Given the description of an element on the screen output the (x, y) to click on. 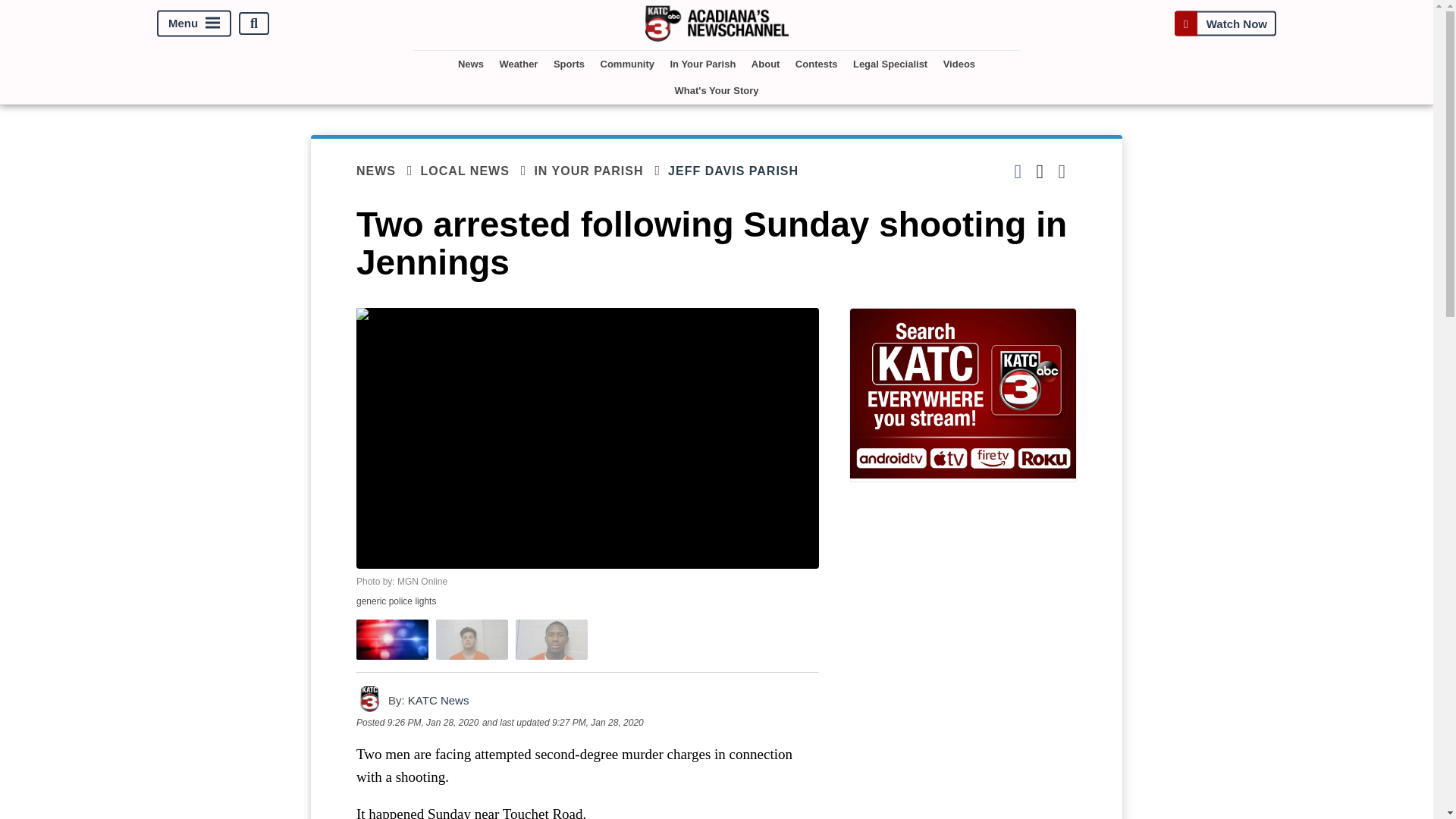
Watch Now (1224, 23)
Menu (194, 23)
